Given the description of an element on the screen output the (x, y) to click on. 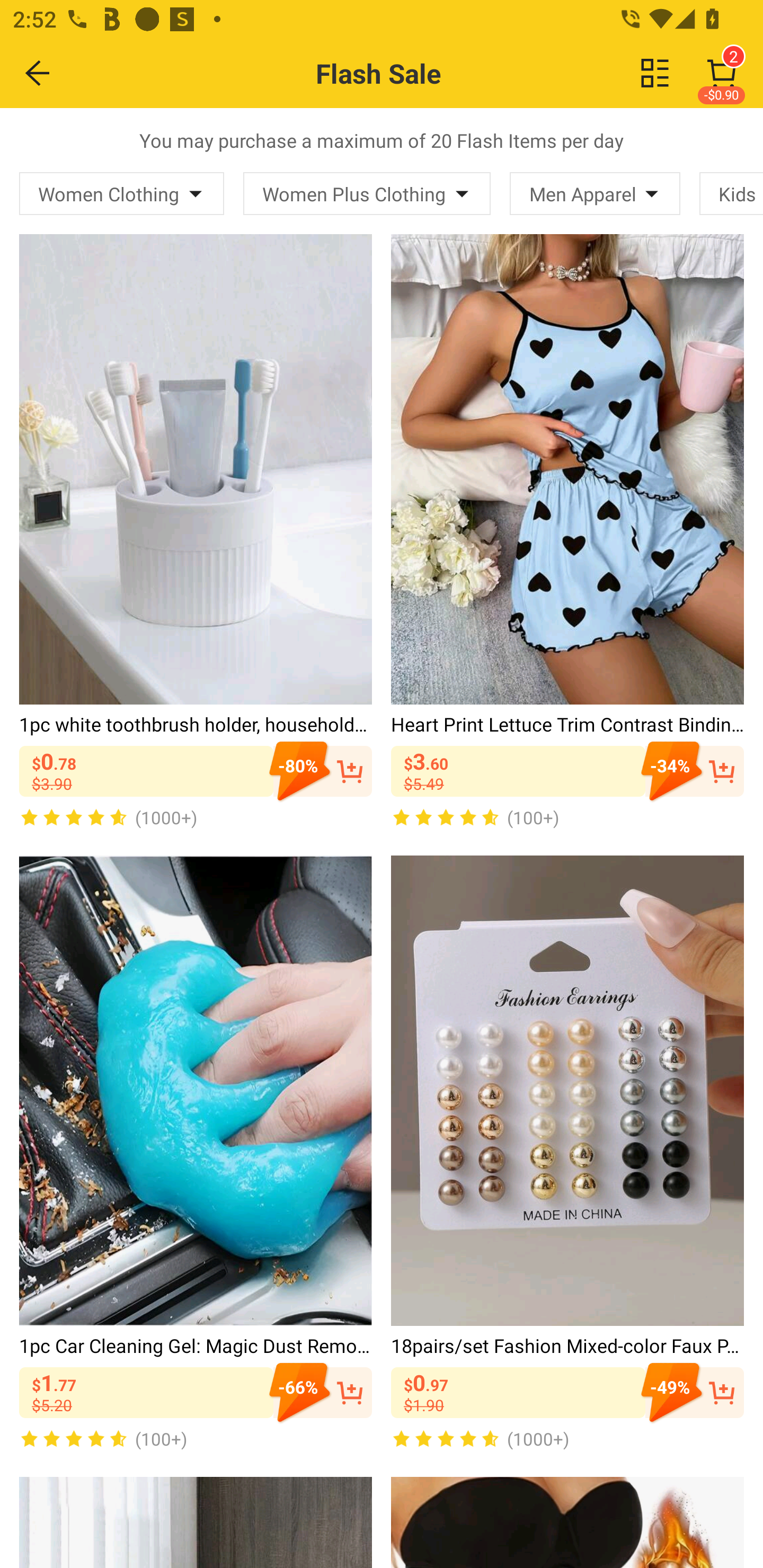
Flash Sale change view 2 -$0.90 (419, 72)
2 -$0.90 (721, 72)
change view (654, 72)
BACK (38, 72)
Women Clothing (121, 193)
Women Plus Clothing (366, 193)
Men Apparel (594, 193)
